Given the description of an element on the screen output the (x, y) to click on. 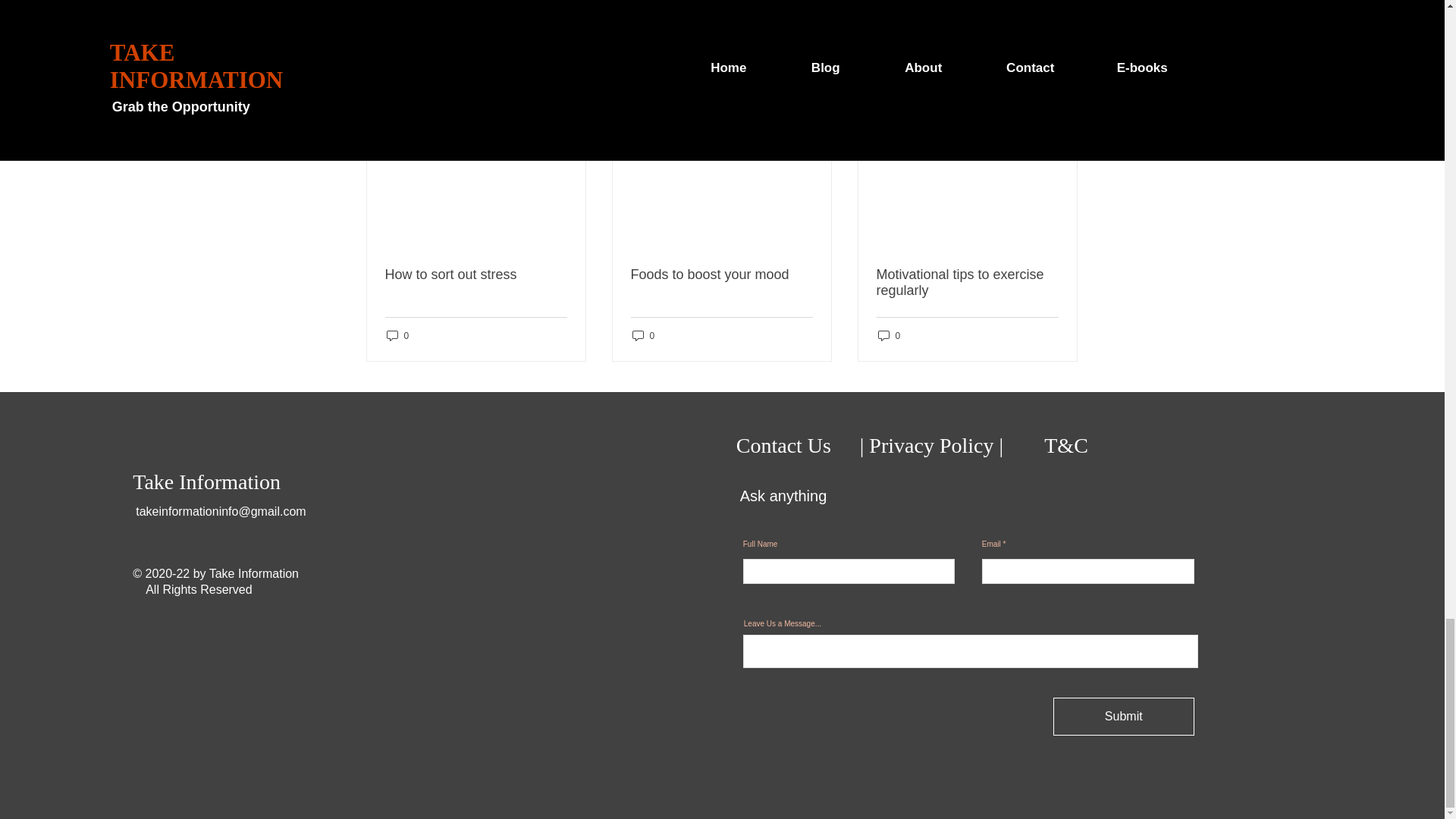
Foods to boost your mood (721, 274)
0 (889, 335)
Motivational tips to exercise regularly (967, 282)
Submit (1122, 716)
0 (643, 335)
See All (1061, 98)
0 (397, 335)
How to sort out stress (476, 274)
